Given the description of an element on the screen output the (x, y) to click on. 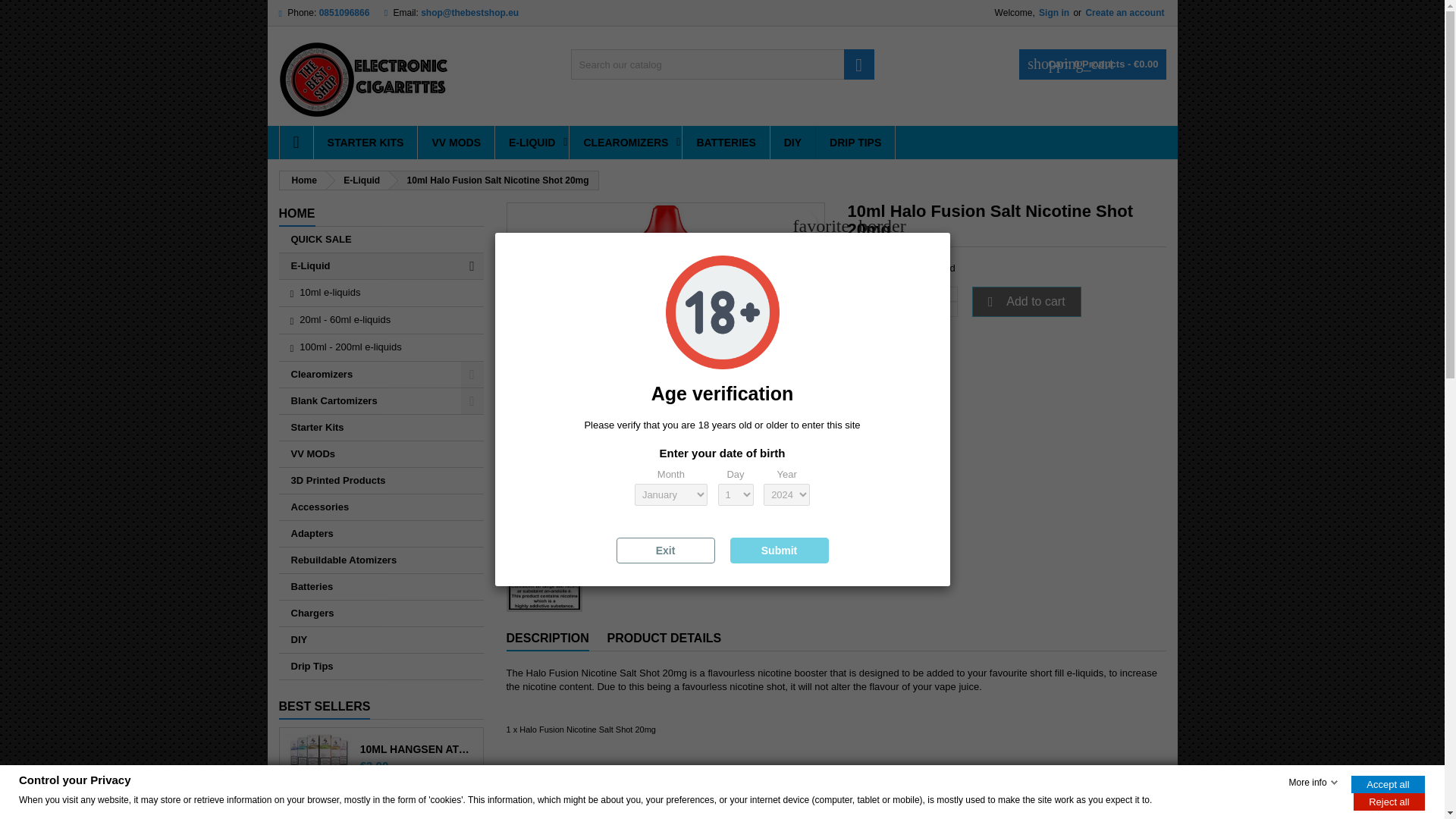
HOME (297, 214)
Log in to your customer account (1053, 12)
CLEAROMIZERS (625, 142)
0851096866 (343, 12)
E-LIQUID (532, 142)
VV MODS (456, 142)
Sign in (1053, 12)
BATTERIES (725, 142)
20ml - 60ml e-liquids (381, 320)
10ml Halo Fusion Salt Nicotine Shot 20mg (665, 361)
